Given the description of an element on the screen output the (x, y) to click on. 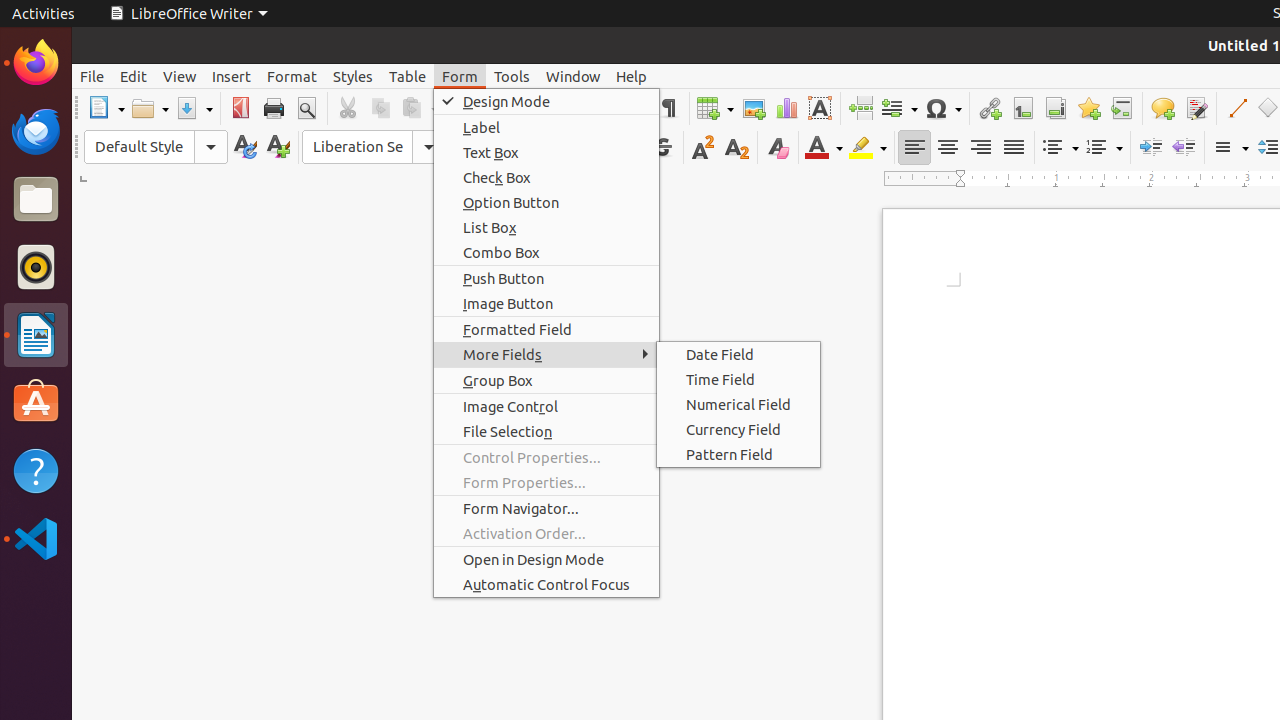
Find & Replace Element type: toggle-button (602, 108)
Open in Design Mode Element type: check-menu-item (546, 559)
More Fields Element type: menu (546, 354)
